Given the description of an element on the screen output the (x, y) to click on. 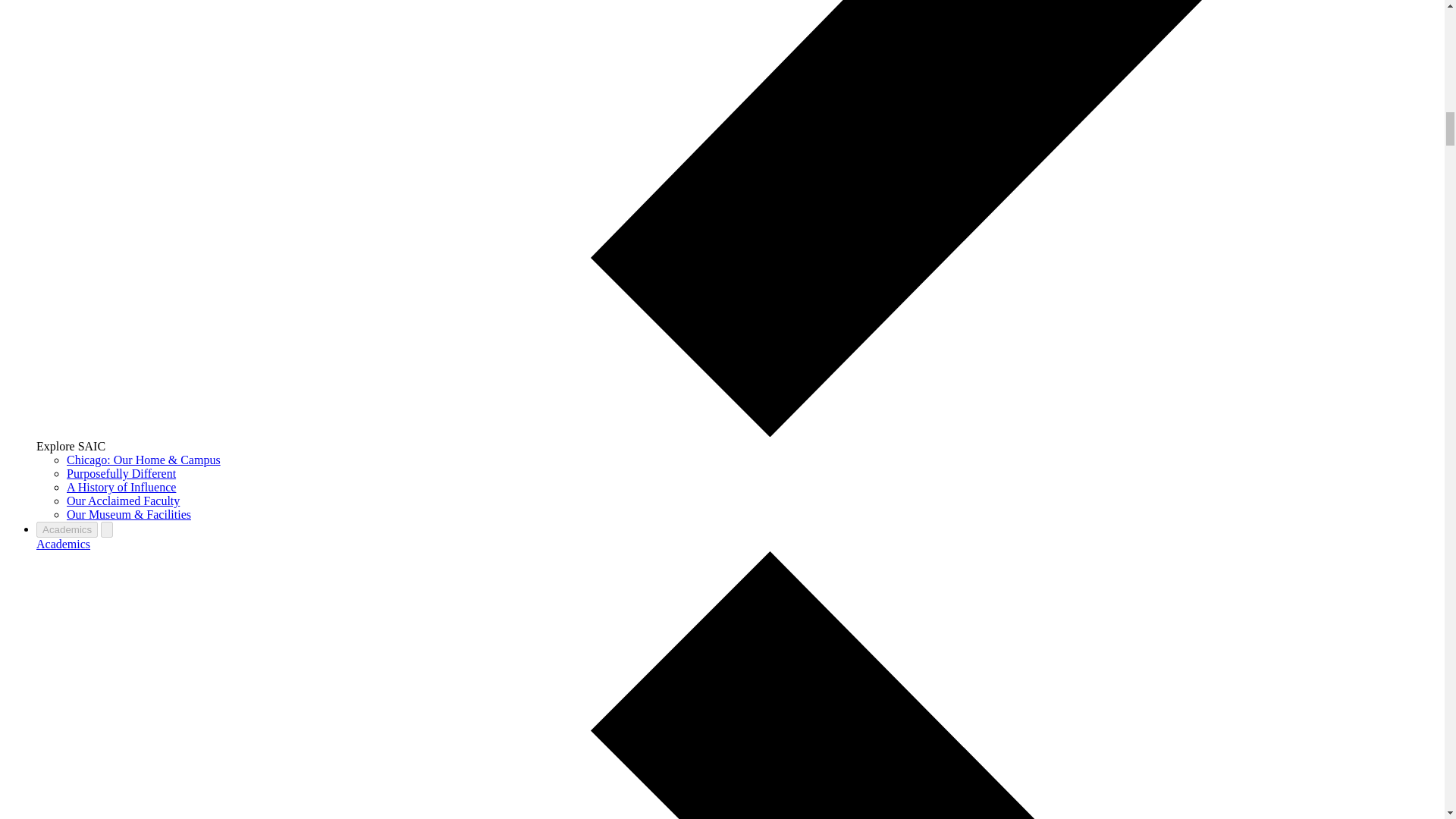
Purposefully Different (121, 472)
Academics (66, 529)
Academics (63, 543)
Our Acclaimed Faculty (122, 500)
A History of Influence (121, 486)
